Given the description of an element on the screen output the (x, y) to click on. 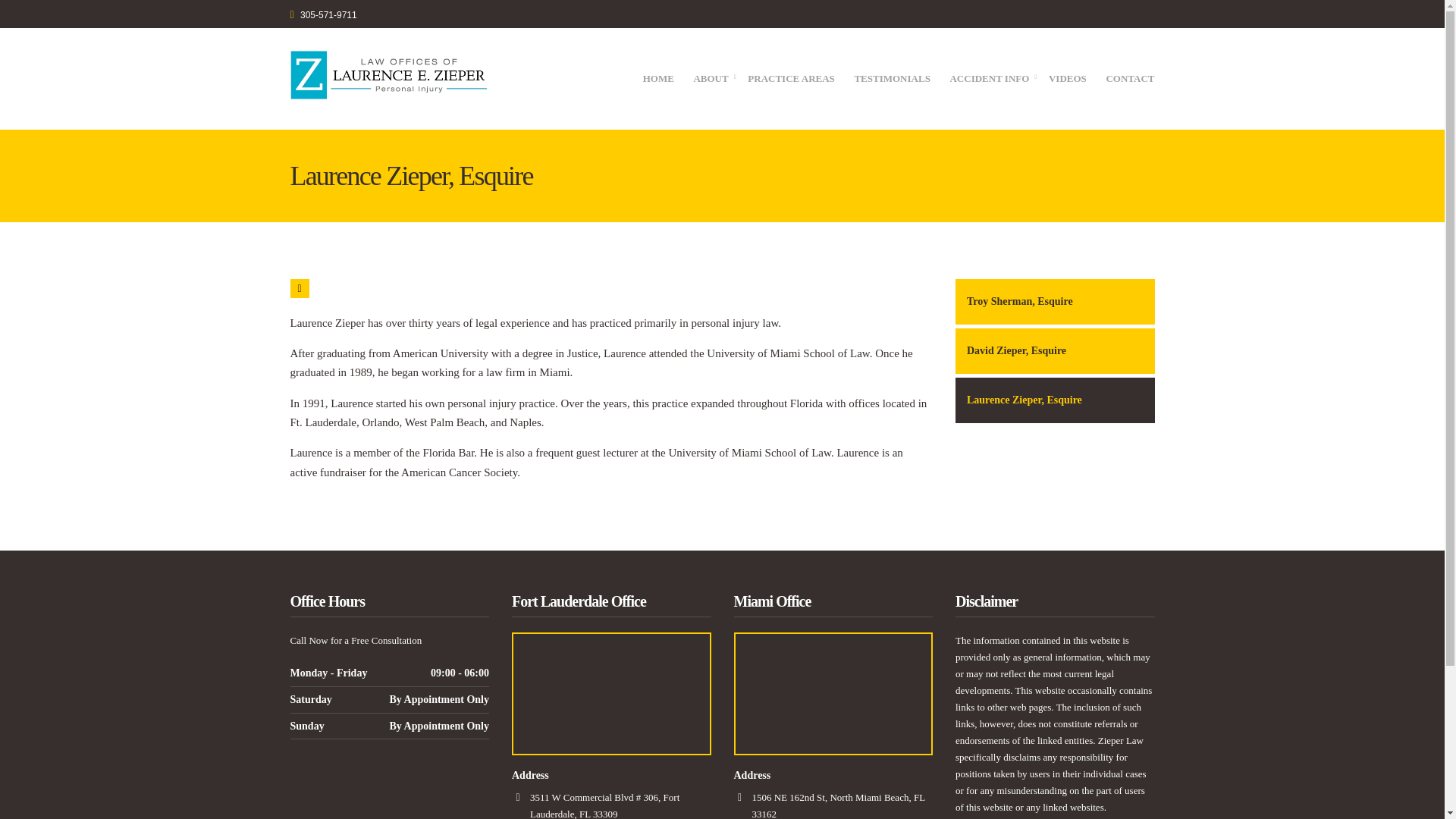
PRACTICE AREAS (791, 79)
ABOUT (710, 79)
David Zieper, Esquire (1054, 350)
VIDEOS (1067, 79)
TESTIMONIALS (891, 79)
Troy Sherman, Esquire (1054, 301)
ACCIDENT INFO (989, 79)
305-571-9711 (327, 14)
CONTACT (1129, 79)
HOME (658, 79)
Laurence Zieper, Esquire (1054, 400)
